Given the description of an element on the screen output the (x, y) to click on. 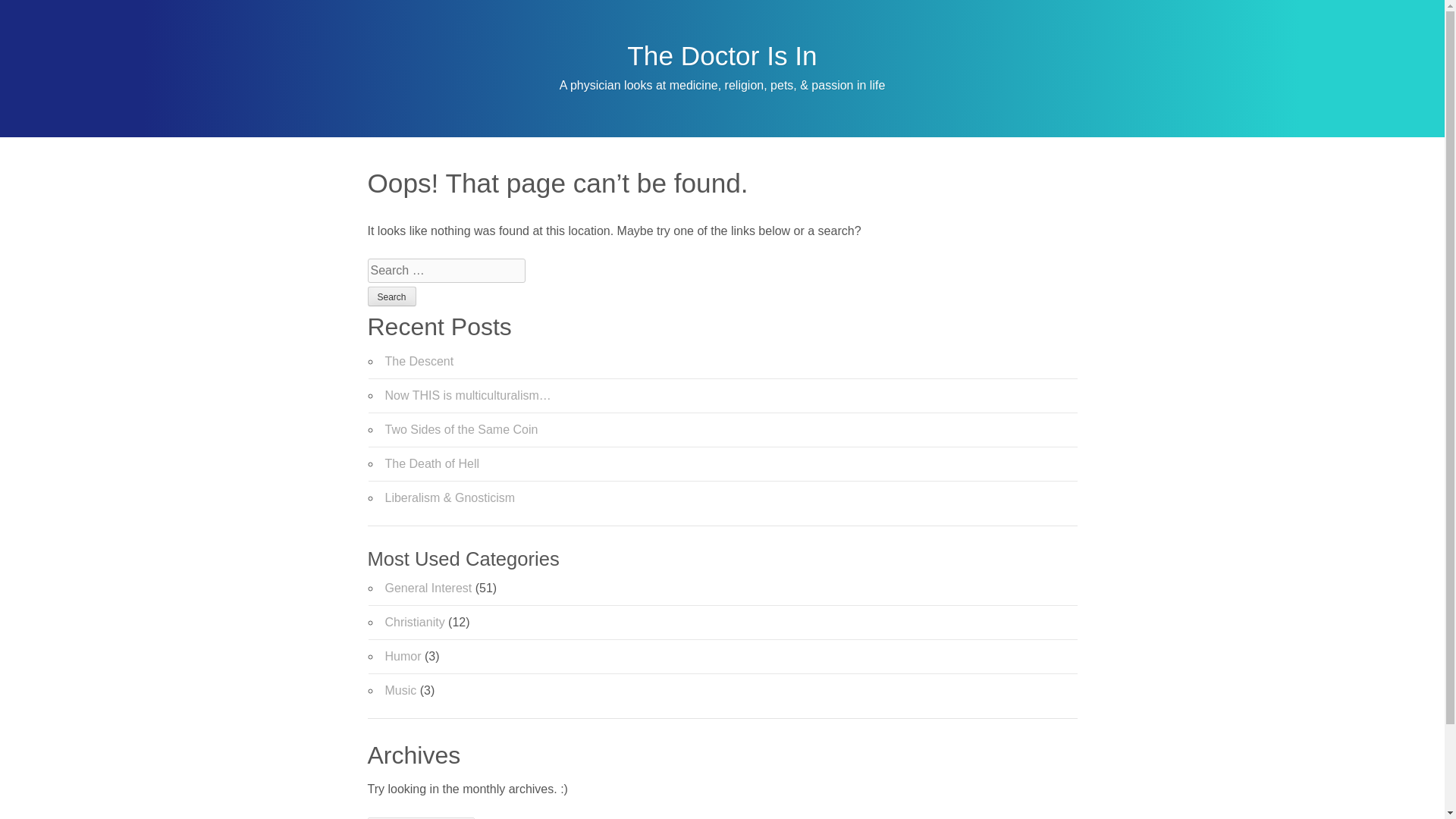
General Interest (428, 587)
Two Sides of the Same Coin (461, 429)
The Descent (419, 360)
Christianity (415, 621)
Music (400, 689)
The Doctor Is In (721, 55)
Humor (403, 656)
Search (390, 296)
Search (390, 296)
Search (390, 296)
The Death of Hell (432, 463)
